Given the description of an element on the screen output the (x, y) to click on. 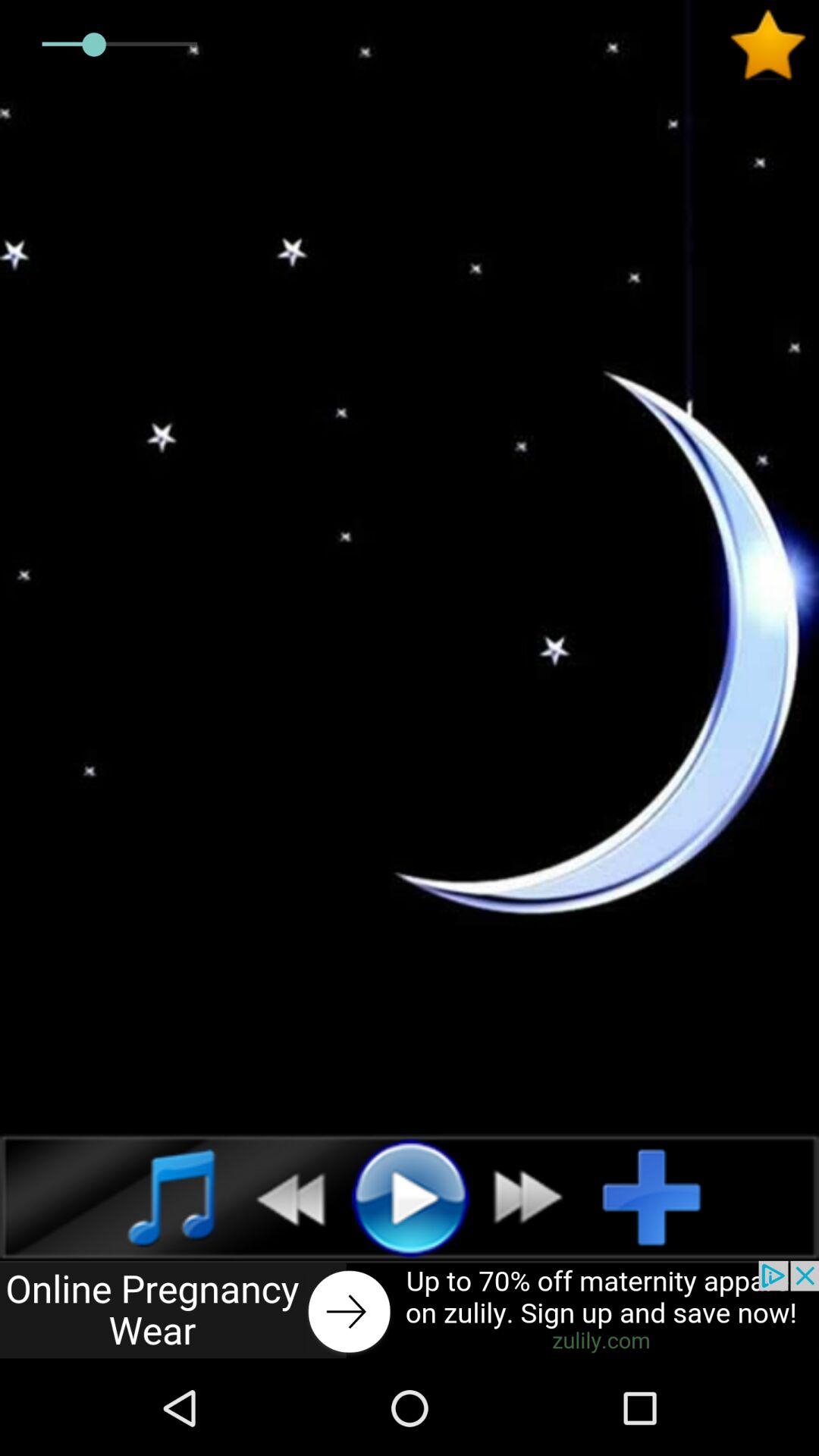
go to online pregnancy wear (409, 1310)
